Given the description of an element on the screen output the (x, y) to click on. 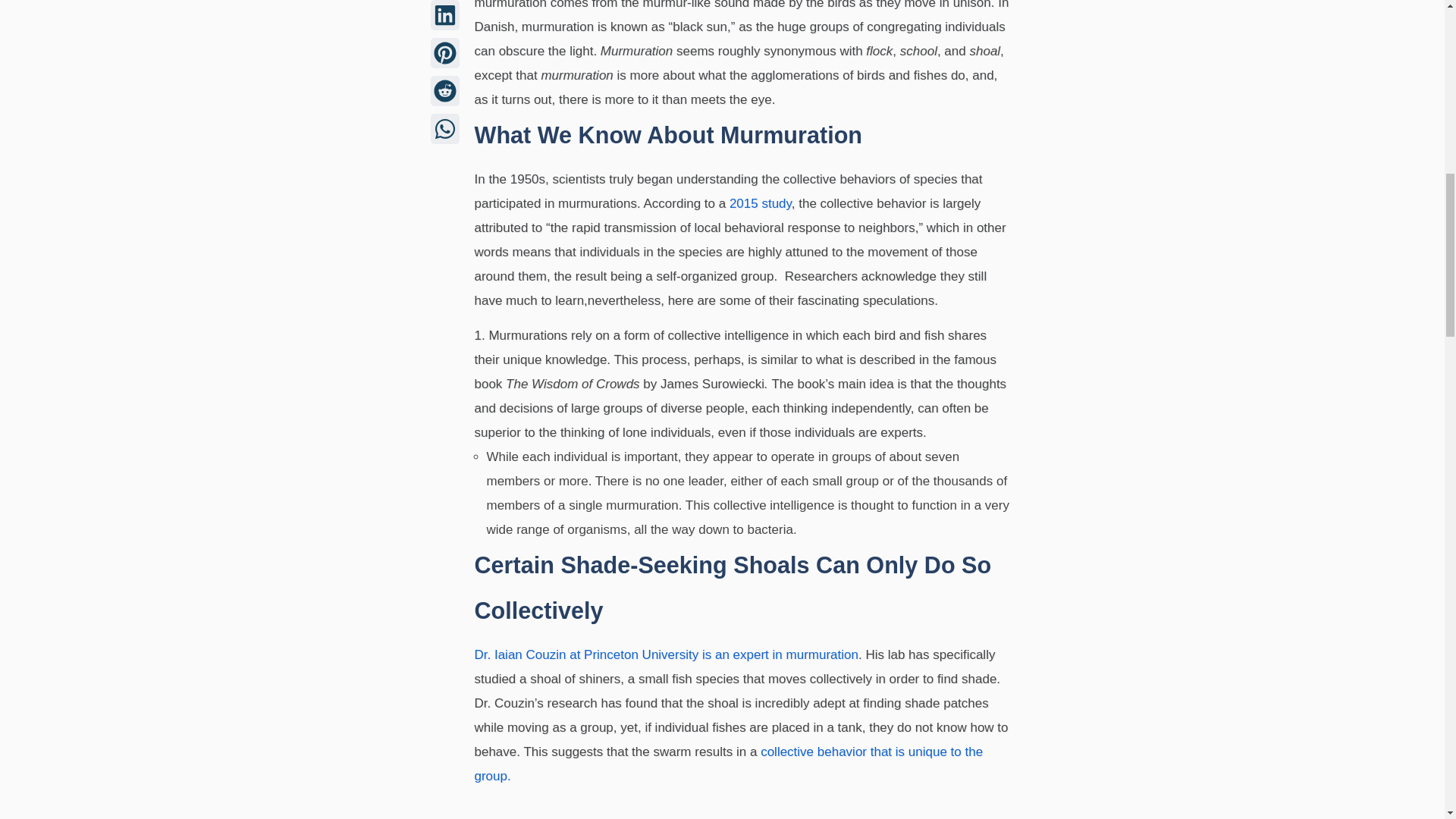
collective behavior that is unique to the group. (729, 763)
2015 study (760, 203)
